Given the description of an element on the screen output the (x, y) to click on. 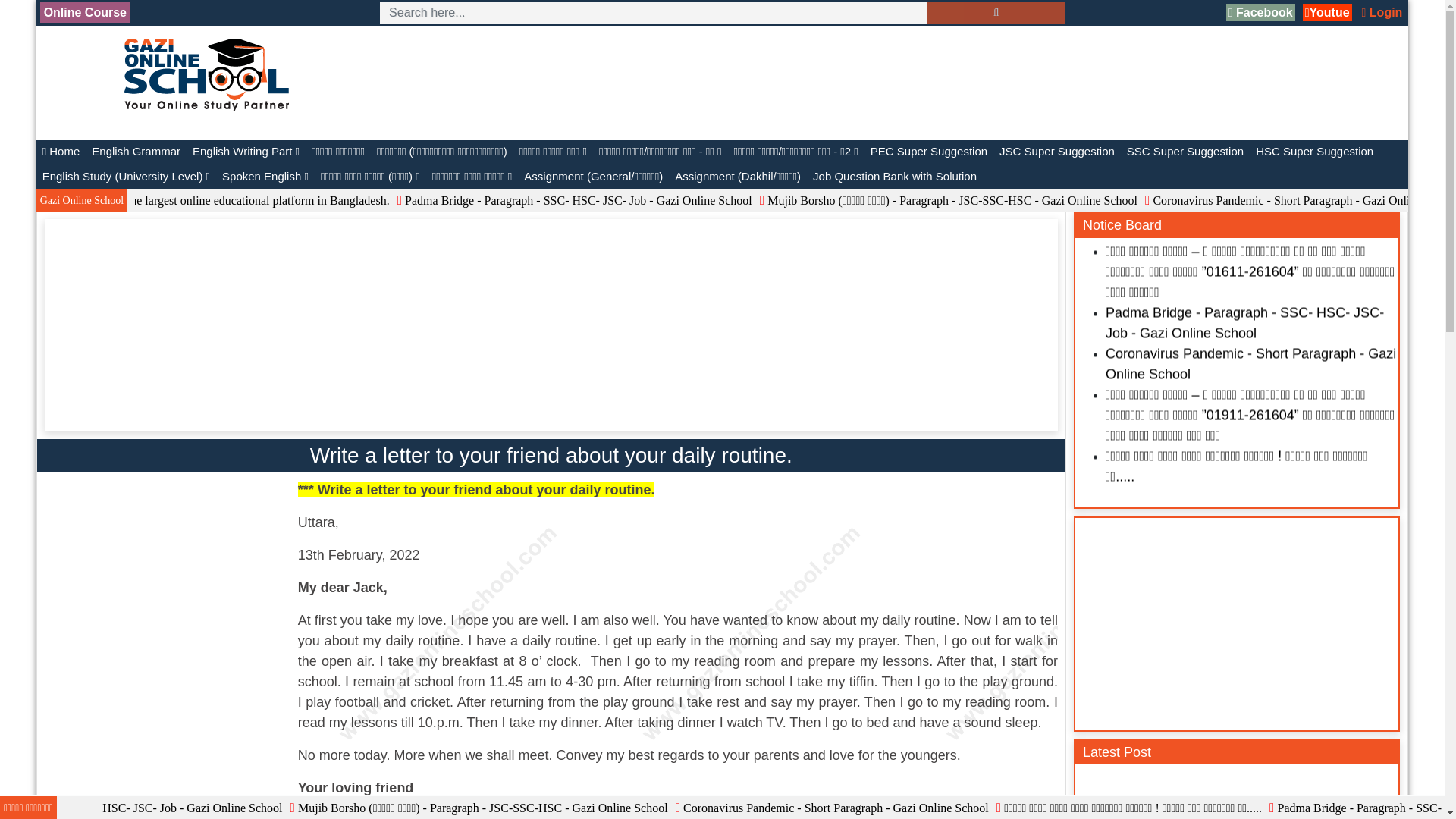
Advertisement (171, 574)
Facebook (1260, 12)
Advertisement (738, 82)
English Writing Part (245, 151)
Home (60, 151)
English Grammar (135, 151)
Online Course (85, 12)
Advertisement (171, 753)
Youtue (1327, 12)
